Given the description of an element on the screen output the (x, y) to click on. 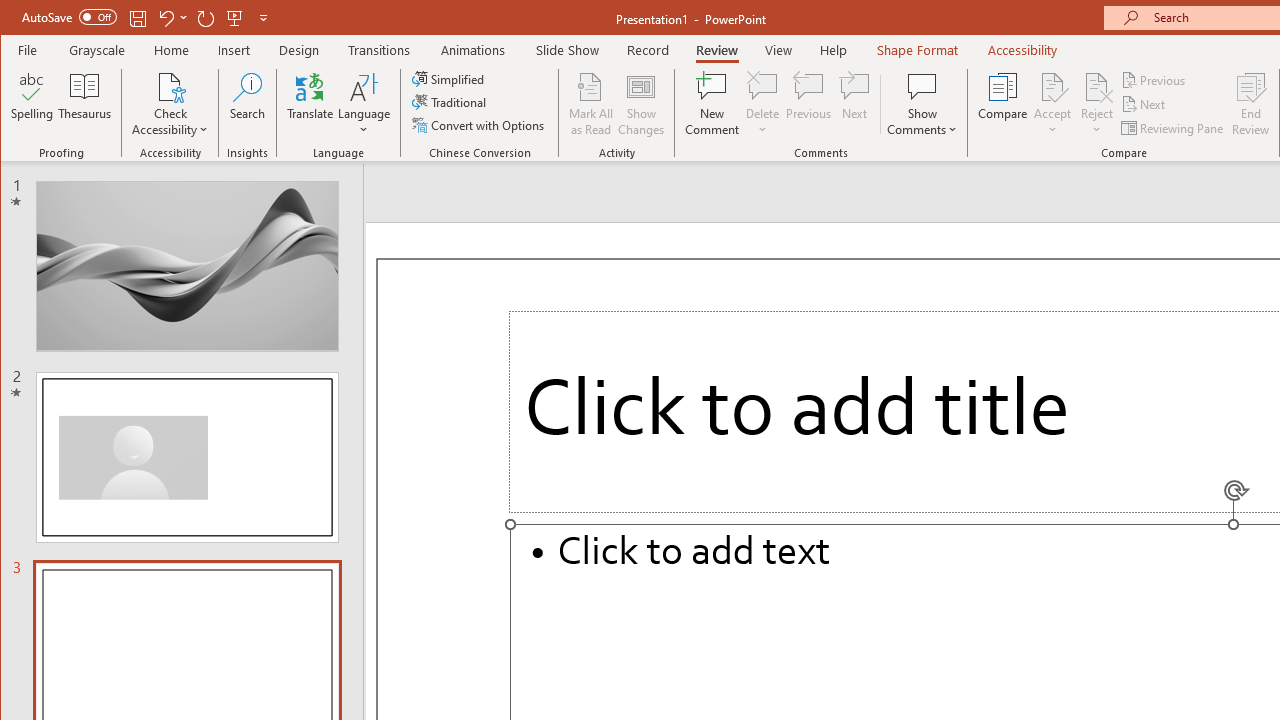
Translate (310, 104)
Check Accessibility (170, 86)
Next (1144, 103)
